Given the description of an element on the screen output the (x, y) to click on. 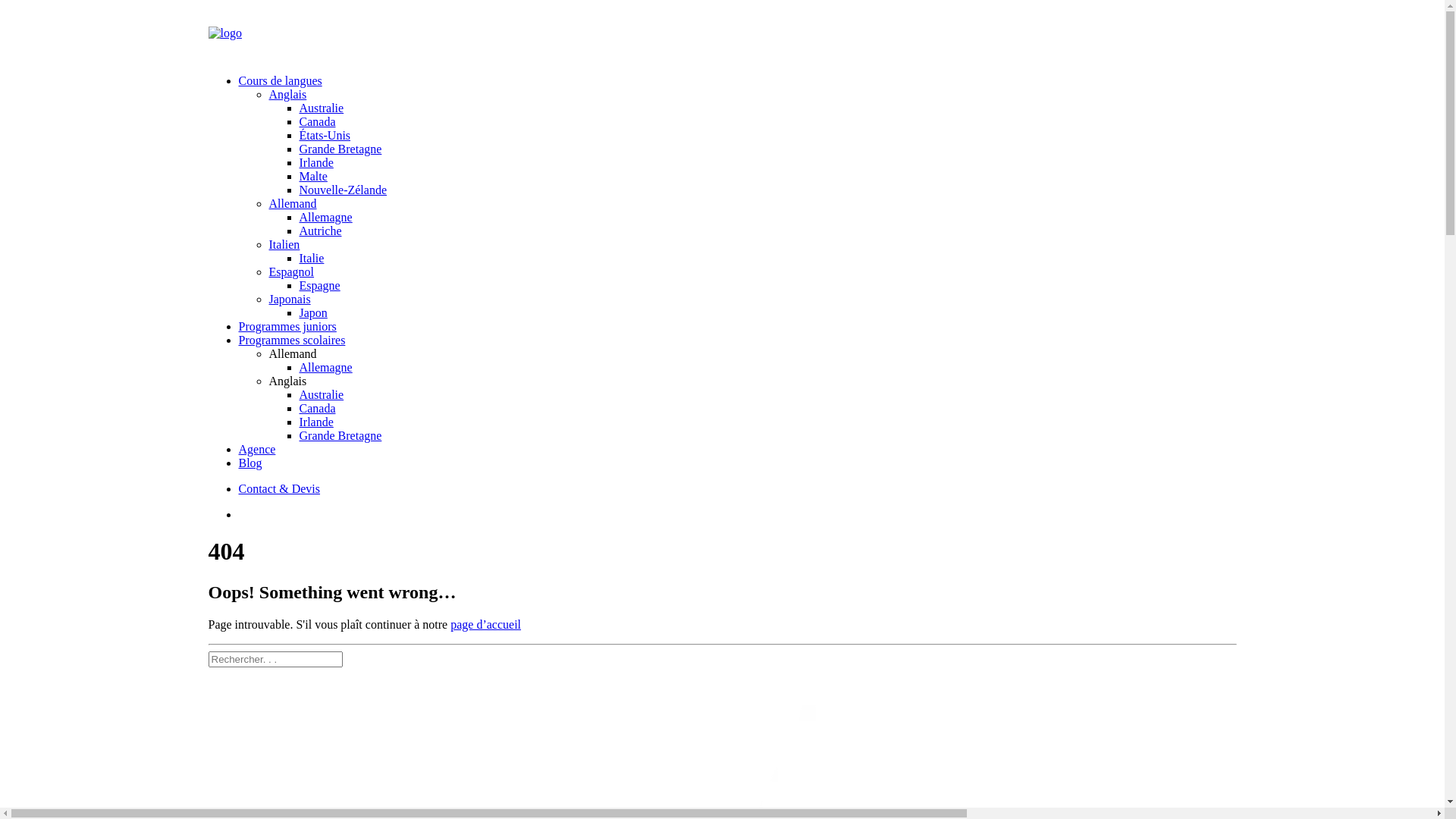
Programmes juniors Element type: text (286, 326)
Japon Element type: text (312, 312)
Allemand Element type: text (292, 353)
Grande Bretagne Element type: text (339, 148)
Programmes scolaires Element type: text (291, 339)
Italien Element type: text (283, 244)
Australie Element type: text (320, 107)
Anglais Element type: text (287, 93)
Espagnol Element type: text (290, 271)
Japonais Element type: text (289, 298)
Blog Element type: text (249, 462)
Cours de langues Element type: text (279, 80)
Espagne Element type: text (318, 285)
Allemagne Element type: text (324, 366)
Canada Element type: text (316, 407)
Italie Element type: text (310, 257)
Malte Element type: text (312, 175)
Allemand Element type: text (292, 203)
Irlande Element type: text (315, 421)
Contact & Devis Element type: text (279, 488)
Anglais Element type: text (287, 380)
Irlande Element type: text (315, 162)
Australie Element type: text (320, 394)
Canada Element type: text (316, 121)
Grande Bretagne Element type: text (339, 435)
Autriche Element type: text (319, 230)
Recherche pour : Element type: hover (274, 659)
Agence Element type: text (256, 448)
Allemagne Element type: text (324, 216)
